Given the description of an element on the screen output the (x, y) to click on. 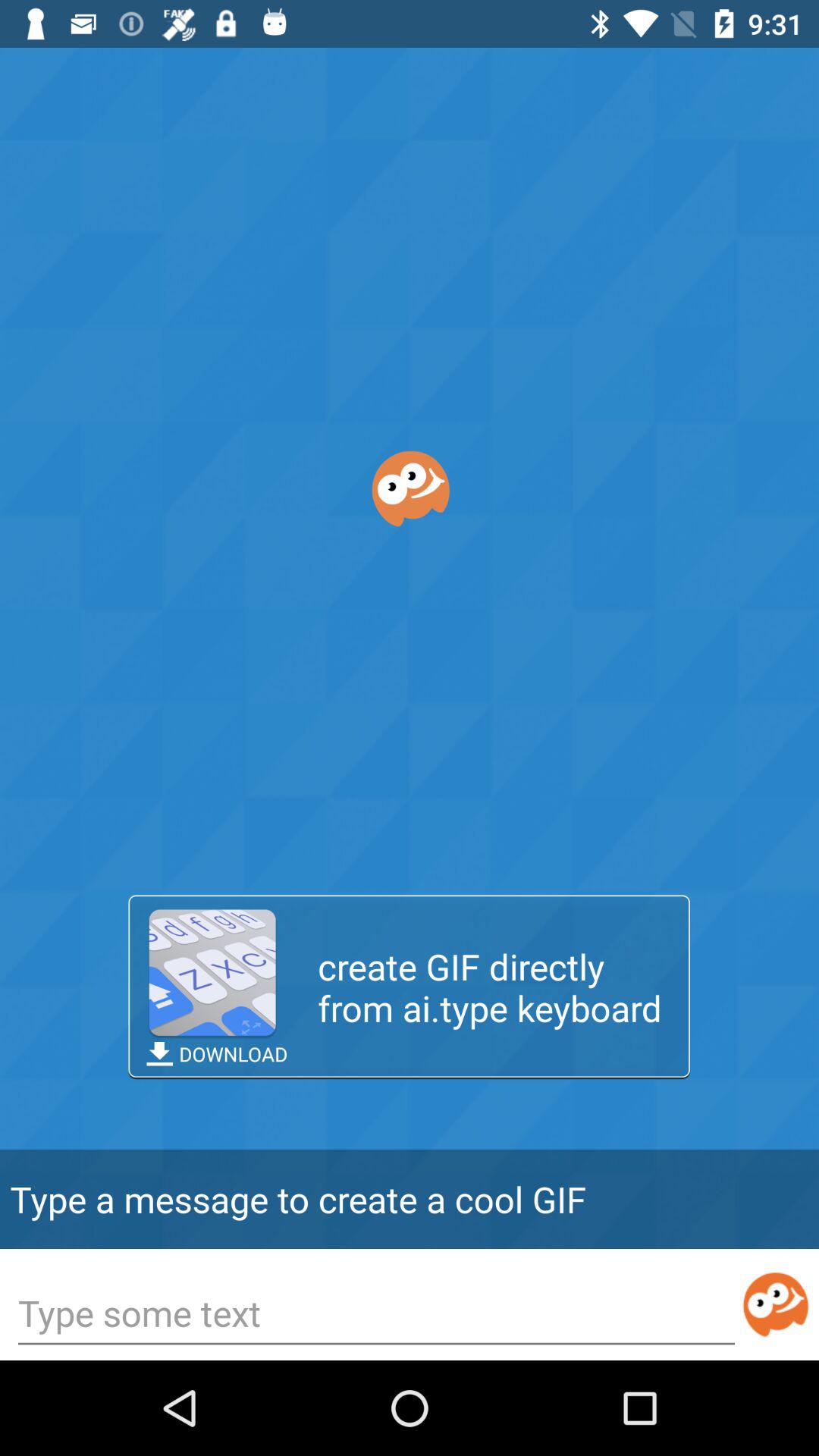
enter (775, 1304)
